Given the description of an element on the screen output the (x, y) to click on. 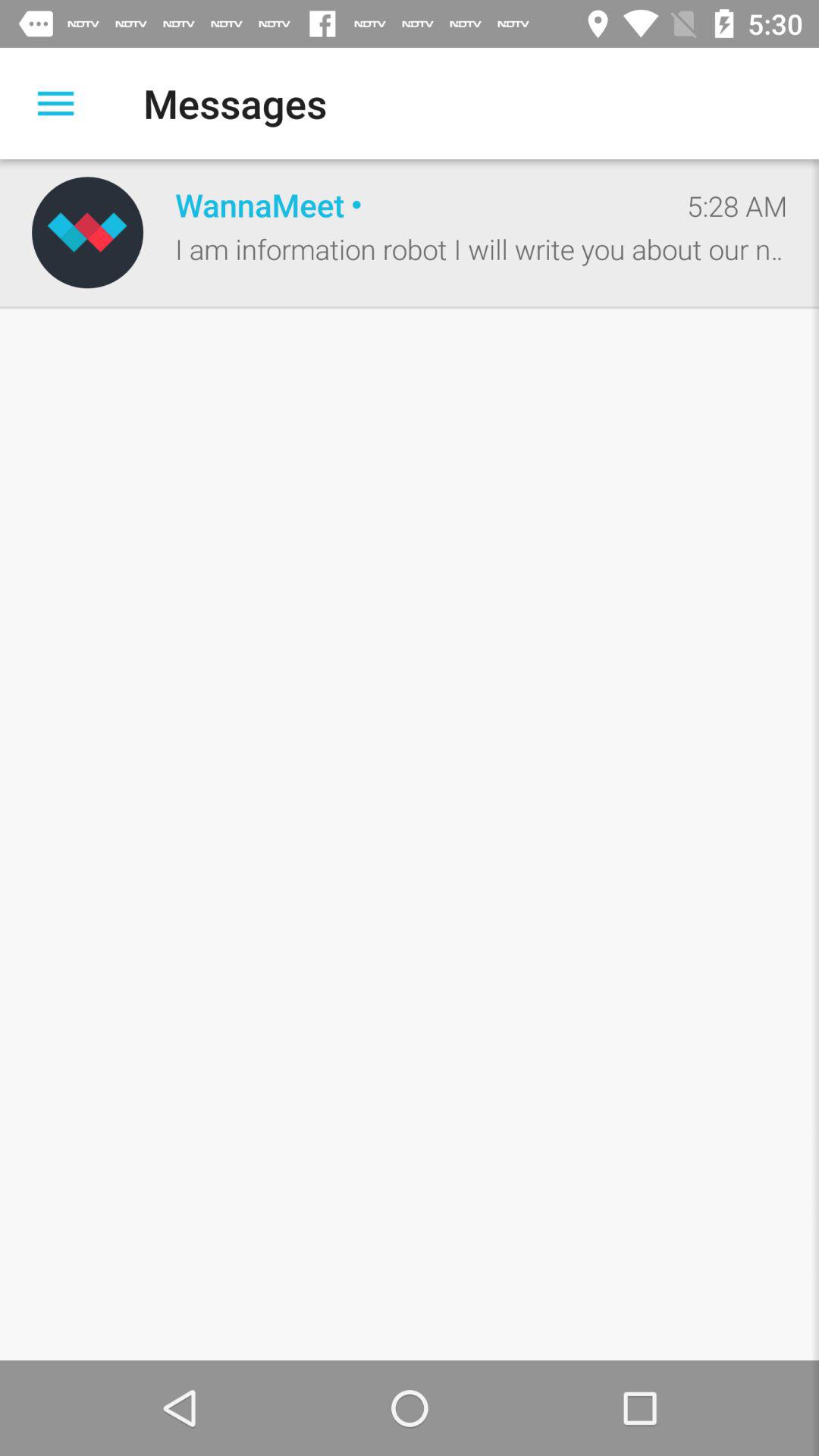
choose icon to the left of the wannameet   item (87, 232)
